Given the description of an element on the screen output the (x, y) to click on. 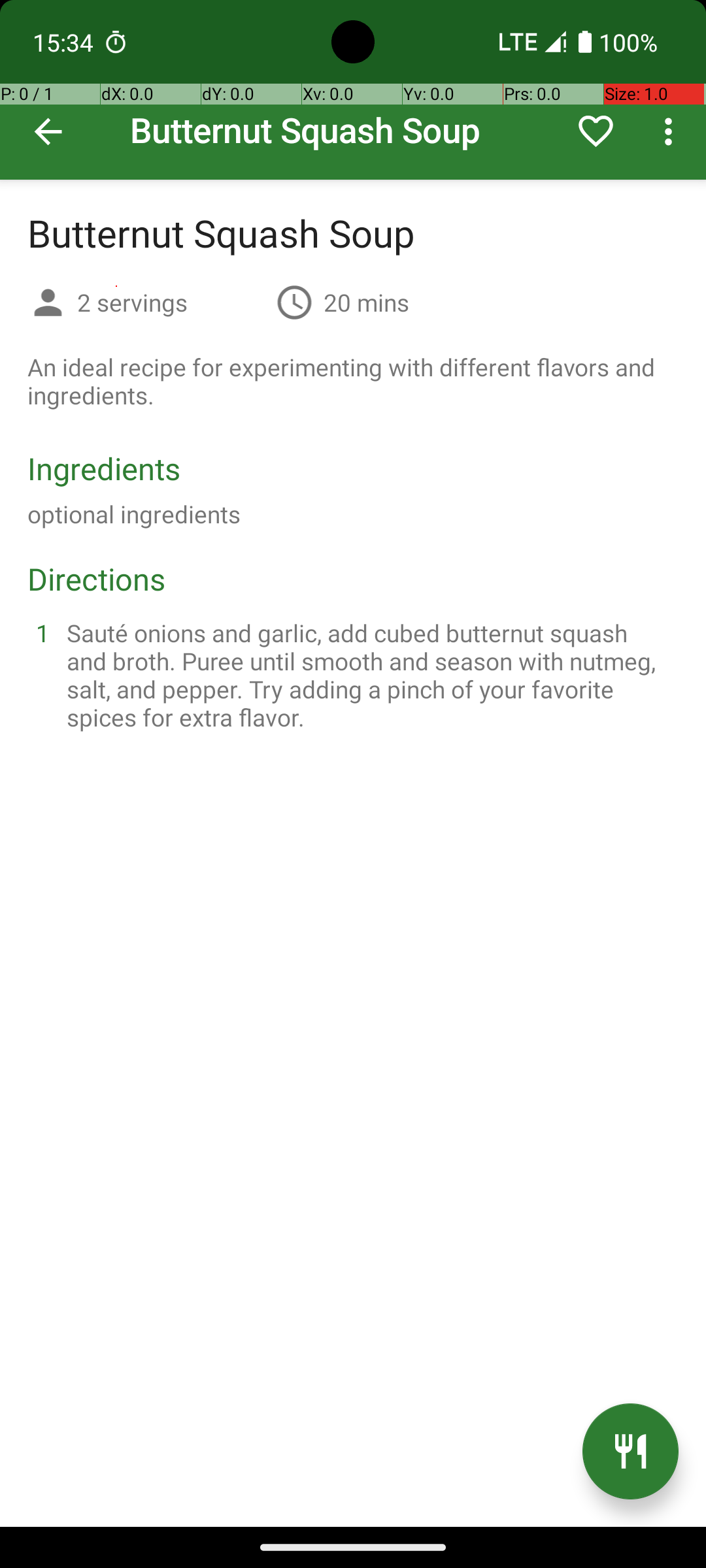
Sauté onions and garlic, add cubed butternut squash and broth. Puree until smooth and season with nutmeg, salt, and pepper. Try adding a pinch of your favorite spices for extra flavor. Element type: android.widget.TextView (368, 674)
